Given the description of an element on the screen output the (x, y) to click on. 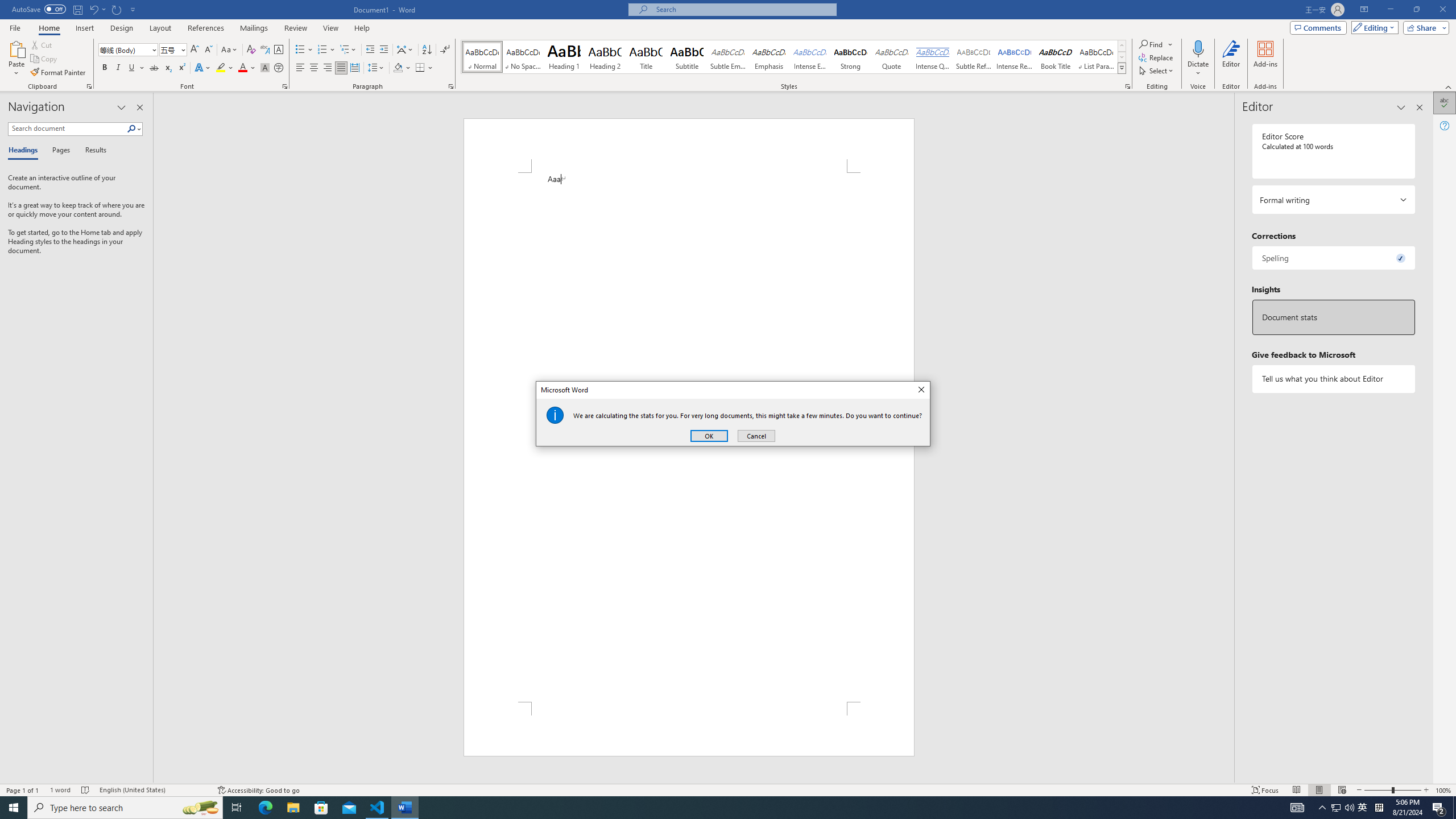
Class: Static (1335, 807)
Notification Chevron (555, 415)
Type here to search (1322, 807)
Tray Input Indicator - Chinese (Simplified, China) (124, 807)
Word - 1 running window (1378, 807)
Q2790: 100% (405, 807)
AutomationID: 4105 (1349, 807)
OK (1297, 807)
File Explorer (709, 435)
Cancel (293, 807)
User Promoted Notification Area (756, 435)
Task View (1342, 807)
Microsoft Store (236, 807)
Running applications (320, 807)
